Given the description of an element on the screen output the (x, y) to click on. 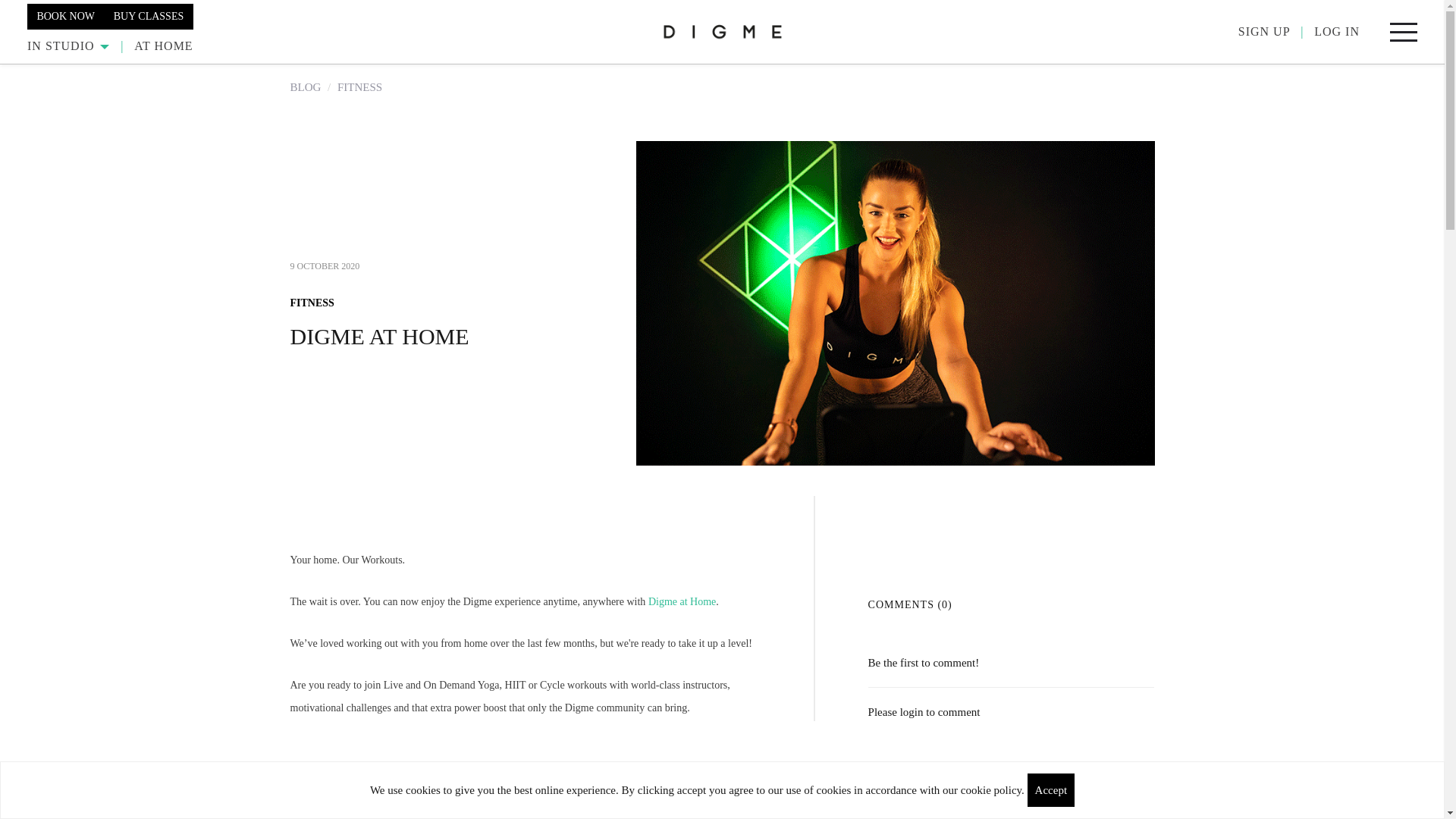
Accept (1050, 789)
BOOK NOW (65, 15)
SIGN UP (1264, 31)
BLOG (304, 87)
IN STUDIO (68, 45)
BUY CLASSES (148, 15)
FITNESS (311, 302)
FITNESS (359, 87)
Digme (722, 31)
